Given the description of an element on the screen output the (x, y) to click on. 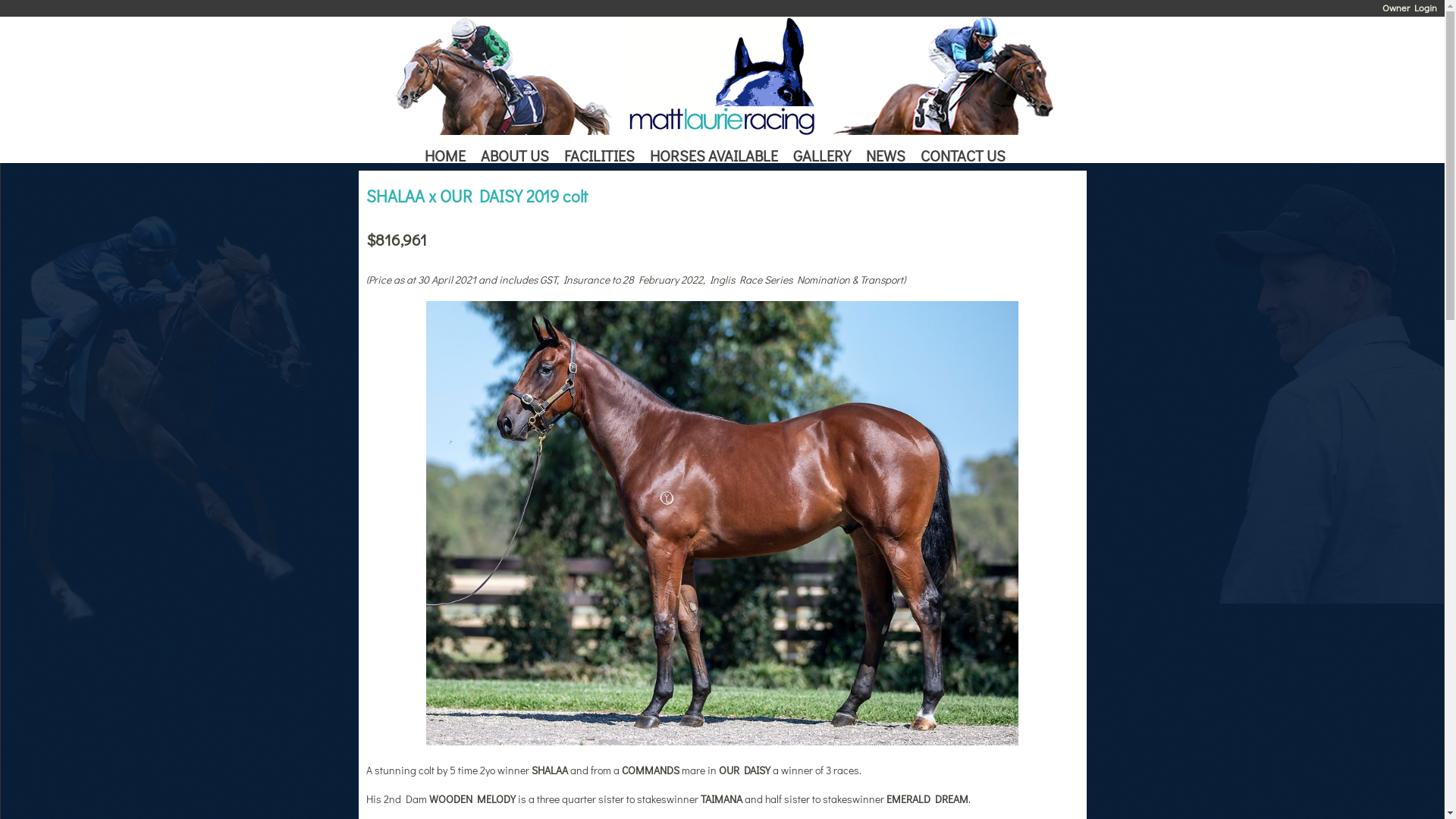
GALLERY Element type: text (825, 156)
CONTACT US Element type: text (966, 156)
Owner Login Element type: text (1409, 7)
HOME Element type: text (448, 156)
NEWS Element type: text (889, 156)
ABOUT US Element type: text (518, 156)
FACILITIES Element type: text (603, 156)
HORSES AVAILABLE Element type: text (716, 156)
